Given the description of an element on the screen output the (x, y) to click on. 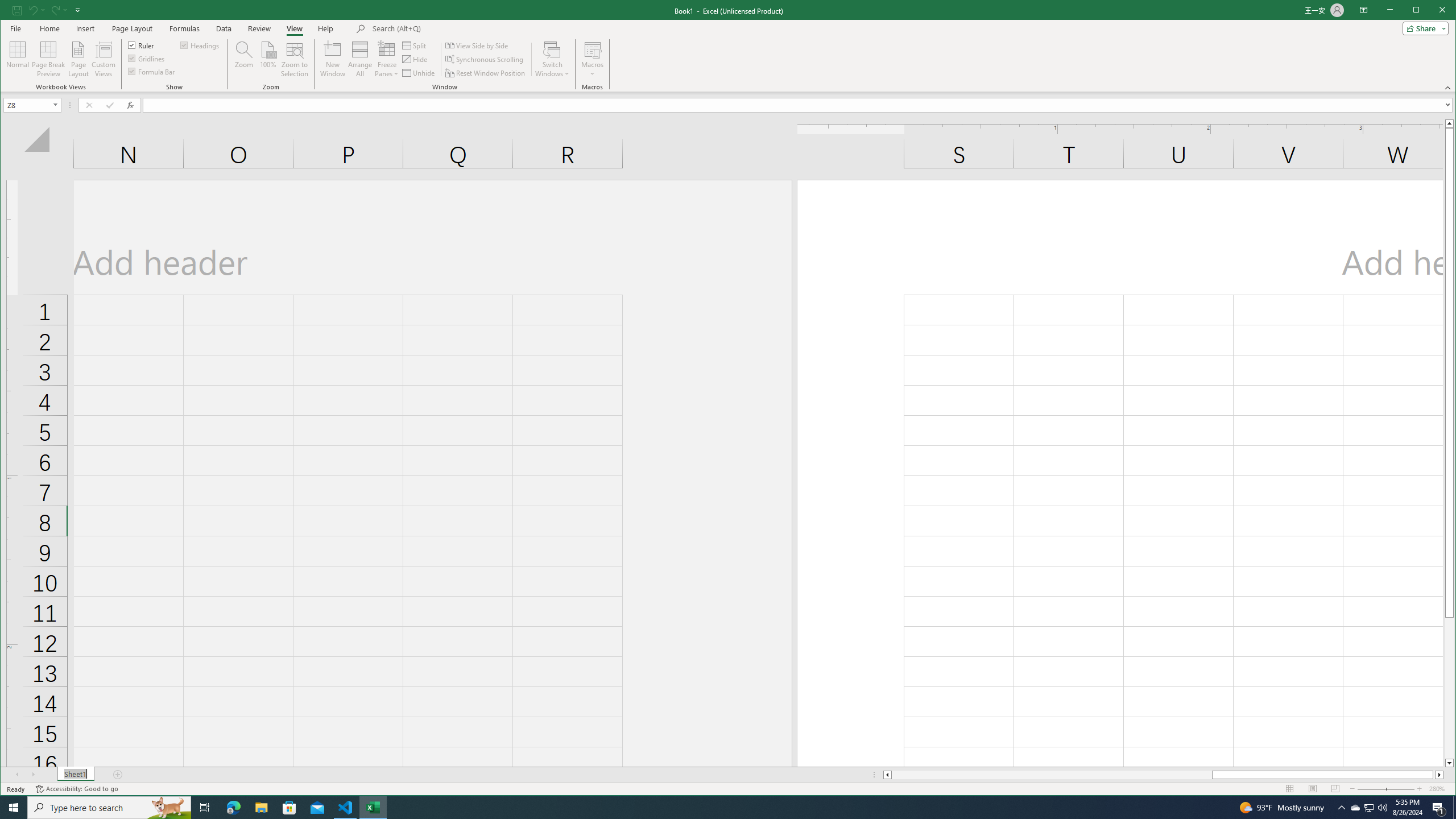
Split (414, 45)
Microsoft Edge (233, 807)
Headings (200, 44)
Switch Windows (552, 59)
Ruler (141, 44)
Hide (415, 59)
User Promoted Notification Area (1368, 807)
